Given the description of an element on the screen output the (x, y) to click on. 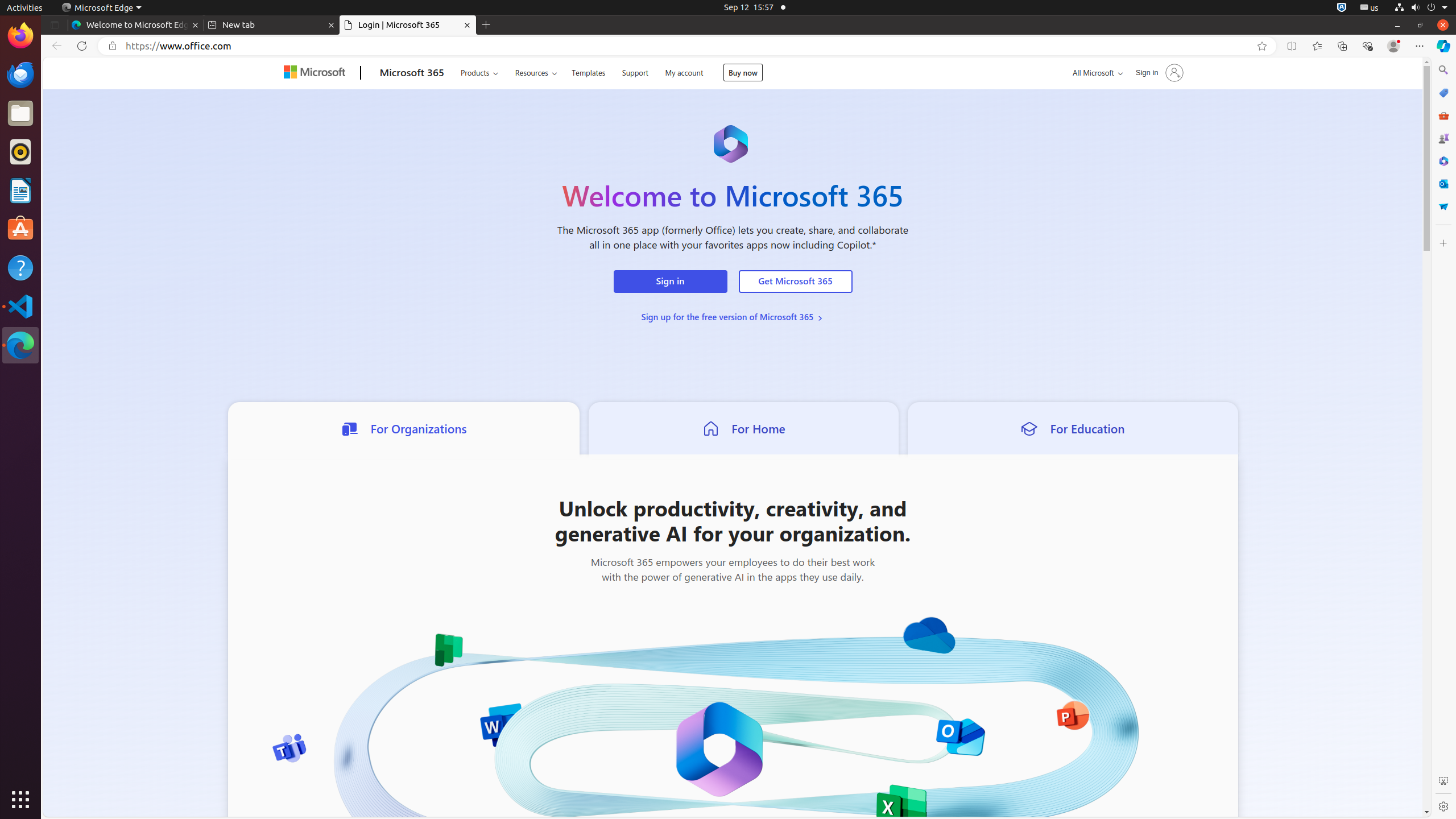
For Home Element type: page-tab (743, 428)
